Given the description of an element on the screen output the (x, y) to click on. 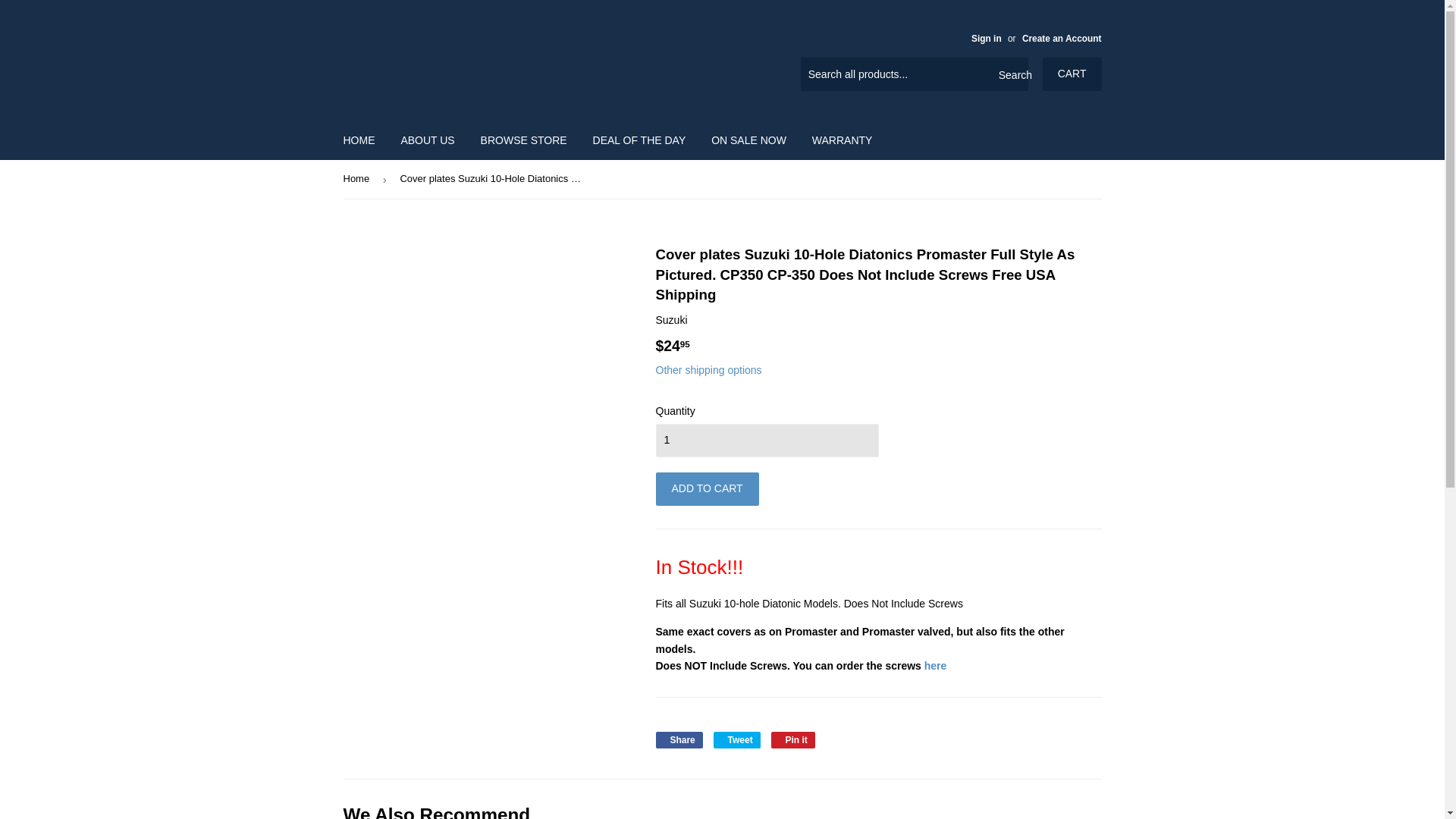
Tweet on Twitter (736, 740)
Search (1010, 74)
Pin on Pinterest (793, 740)
1 (766, 440)
Create an Account (1062, 38)
Sign in (986, 38)
CART (1072, 73)
Share on Facebook (678, 740)
